Given the description of an element on the screen output the (x, y) to click on. 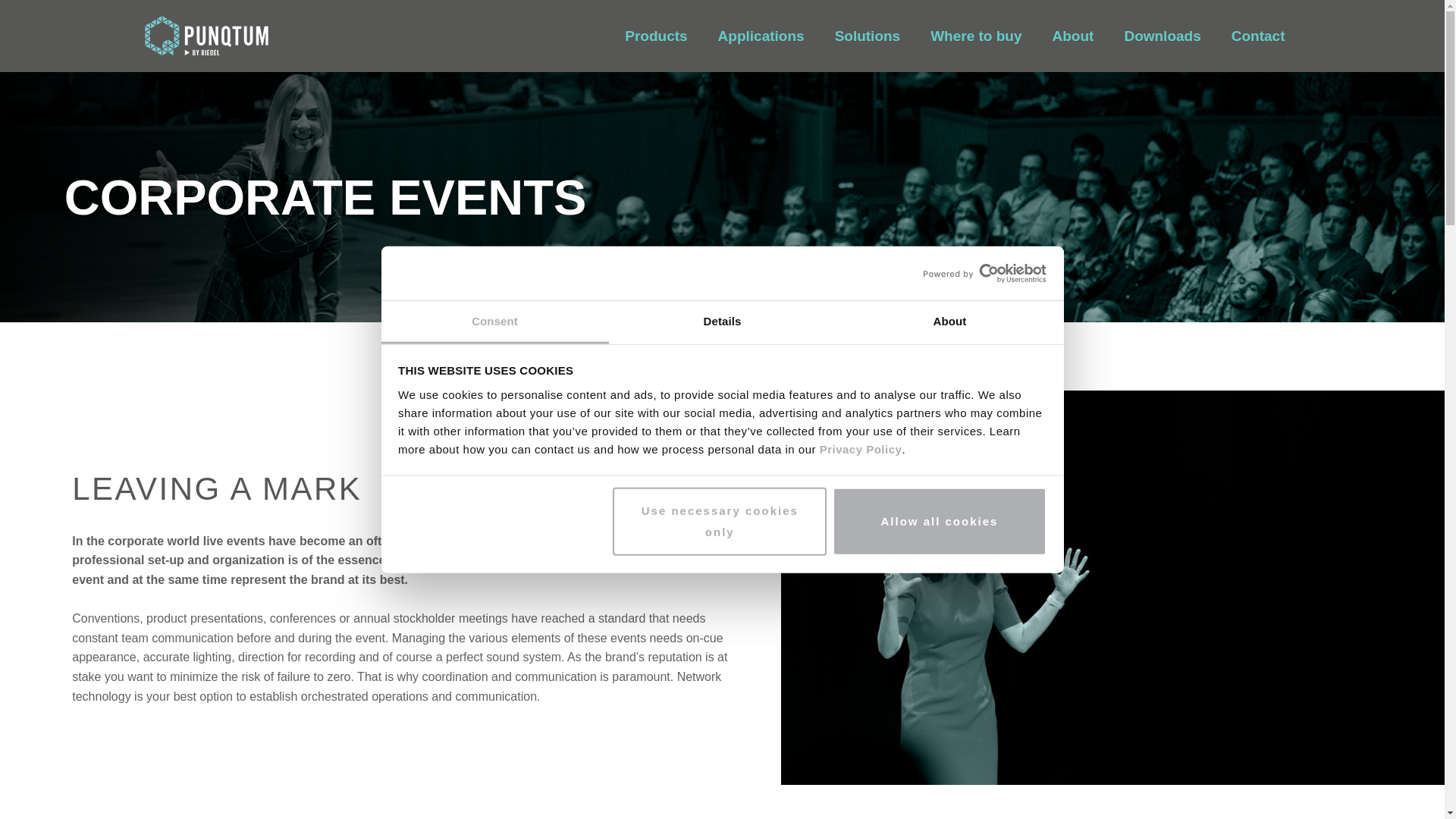
Use necessary cookies only (719, 521)
About (948, 322)
Details (721, 322)
 Privacy Policy (858, 449)
Products (655, 35)
Allow all cookies (939, 521)
Consent (494, 322)
